Given the description of an element on the screen output the (x, y) to click on. 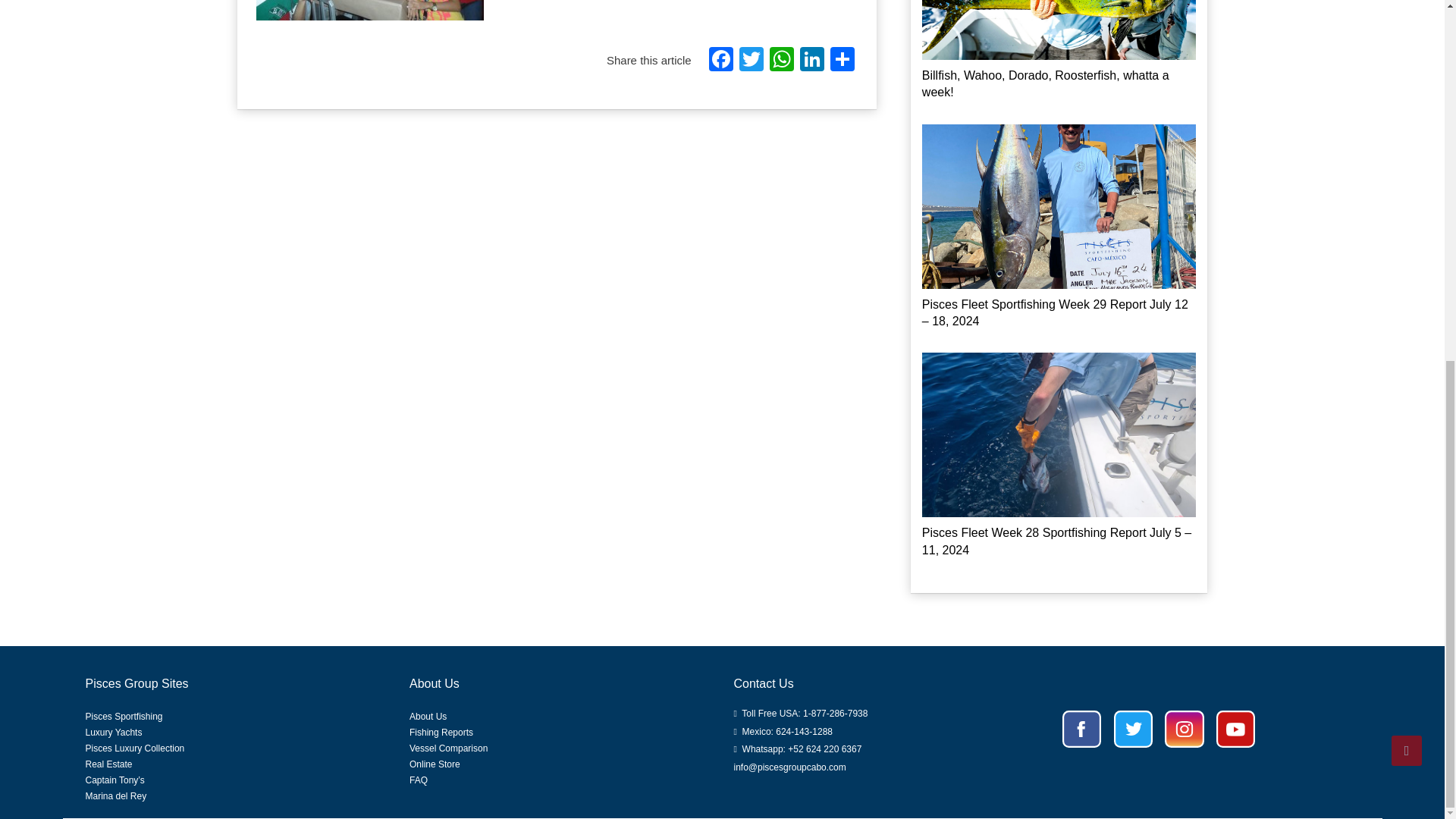
WhatsApp (781, 60)
Facebook (721, 60)
Billfish, Wahoo, Dorado, Roosterfish, whatta a week! (1045, 83)
Billfish, Wahoo, Dorado, Roosterfish, whatta a week! (1058, 29)
LinkedIn (811, 60)
Facebook (721, 60)
Billfish, Wahoo, Dorado, Roosterfish, whatta a week! (1045, 83)
WhatsApp (781, 60)
LinkedIn (811, 60)
Twitter (751, 60)
